Given the description of an element on the screen output the (x, y) to click on. 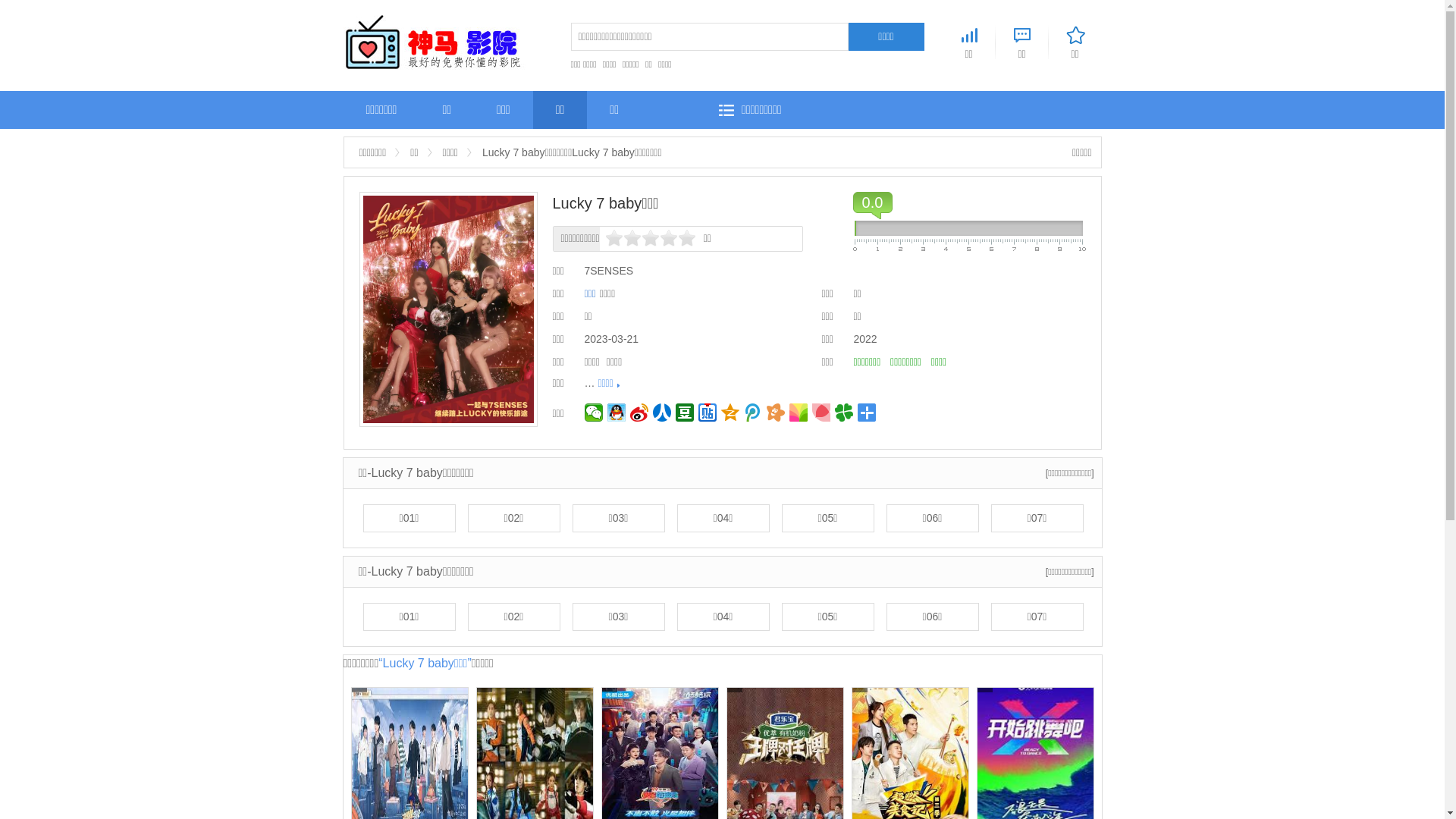
2022 Element type: text (865, 338)
7SENSES Element type: text (608, 270)
